Given the description of an element on the screen output the (x, y) to click on. 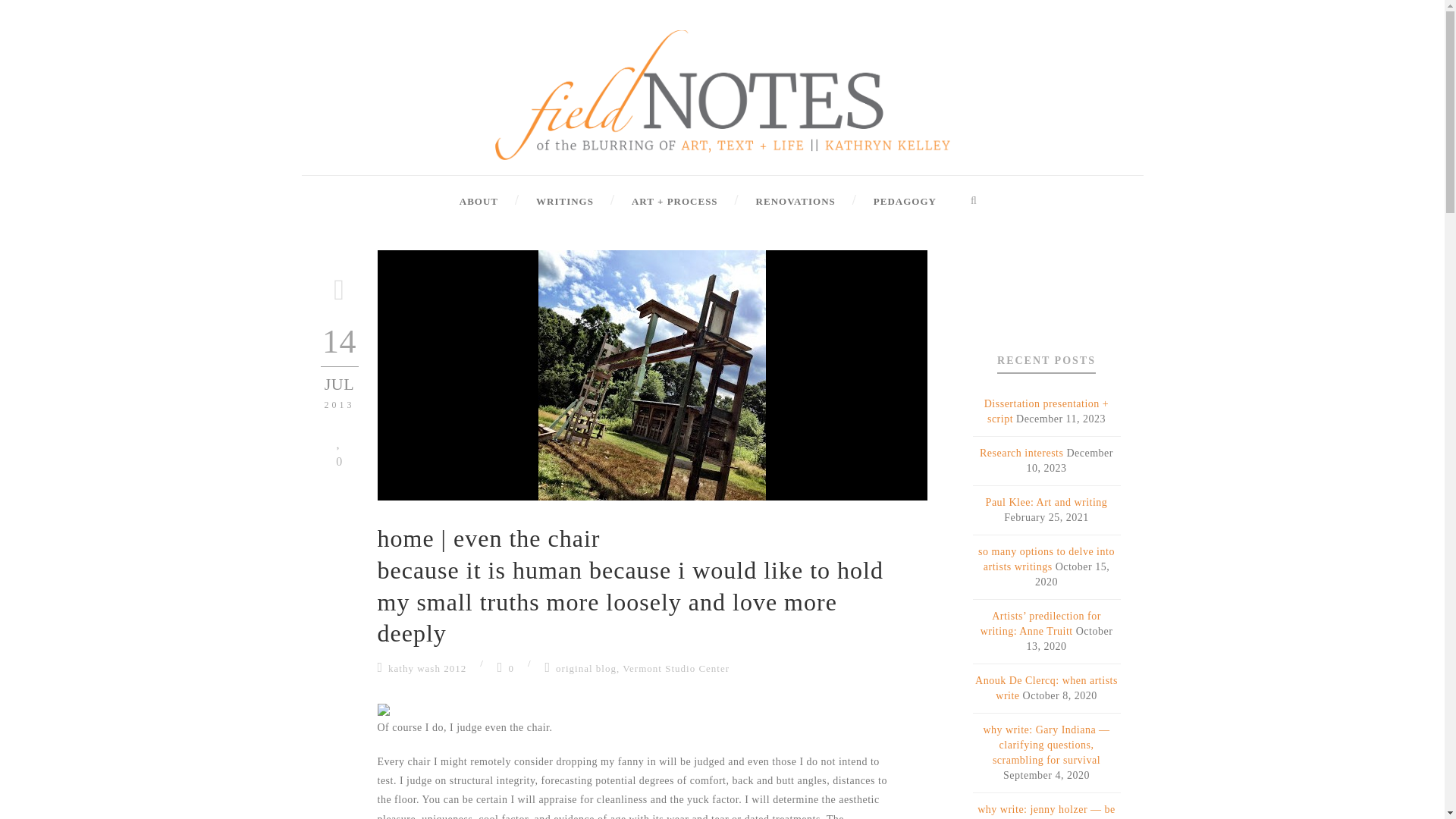
Posts by kathy wash 2012 (426, 668)
Like this (339, 450)
